Given the description of an element on the screen output the (x, y) to click on. 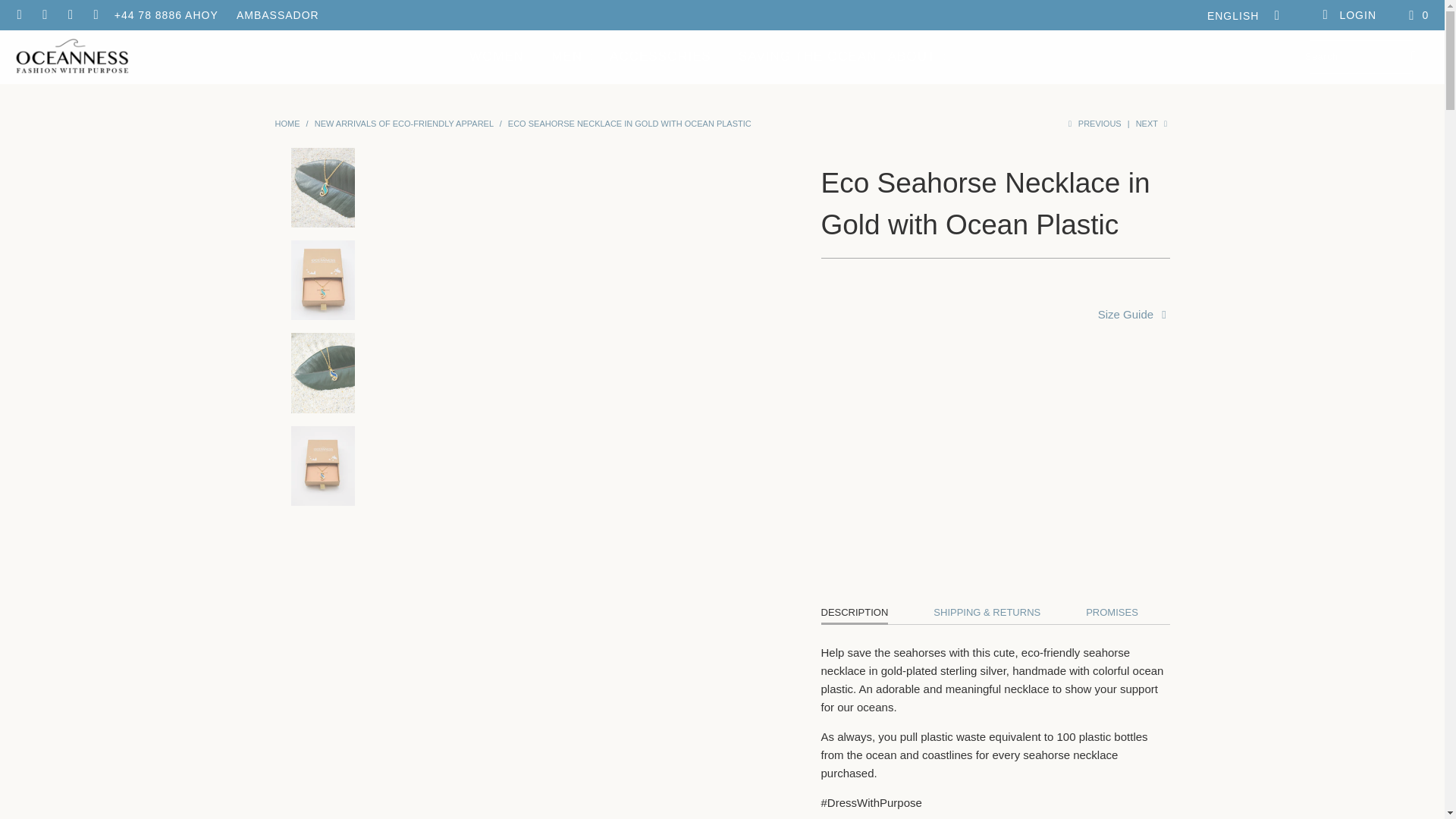
Previous (1092, 122)
My Account  (1348, 15)
Oceanness on YouTube (44, 15)
Oceanness (71, 56)
Email Oceanness (95, 15)
Next (1152, 122)
Oceanness on Instagram (69, 15)
Oceanness (287, 122)
Oceanness on Facebook (18, 15)
New Arrivals of Eco-Friendly Apparel (403, 122)
